Given the description of an element on the screen output the (x, y) to click on. 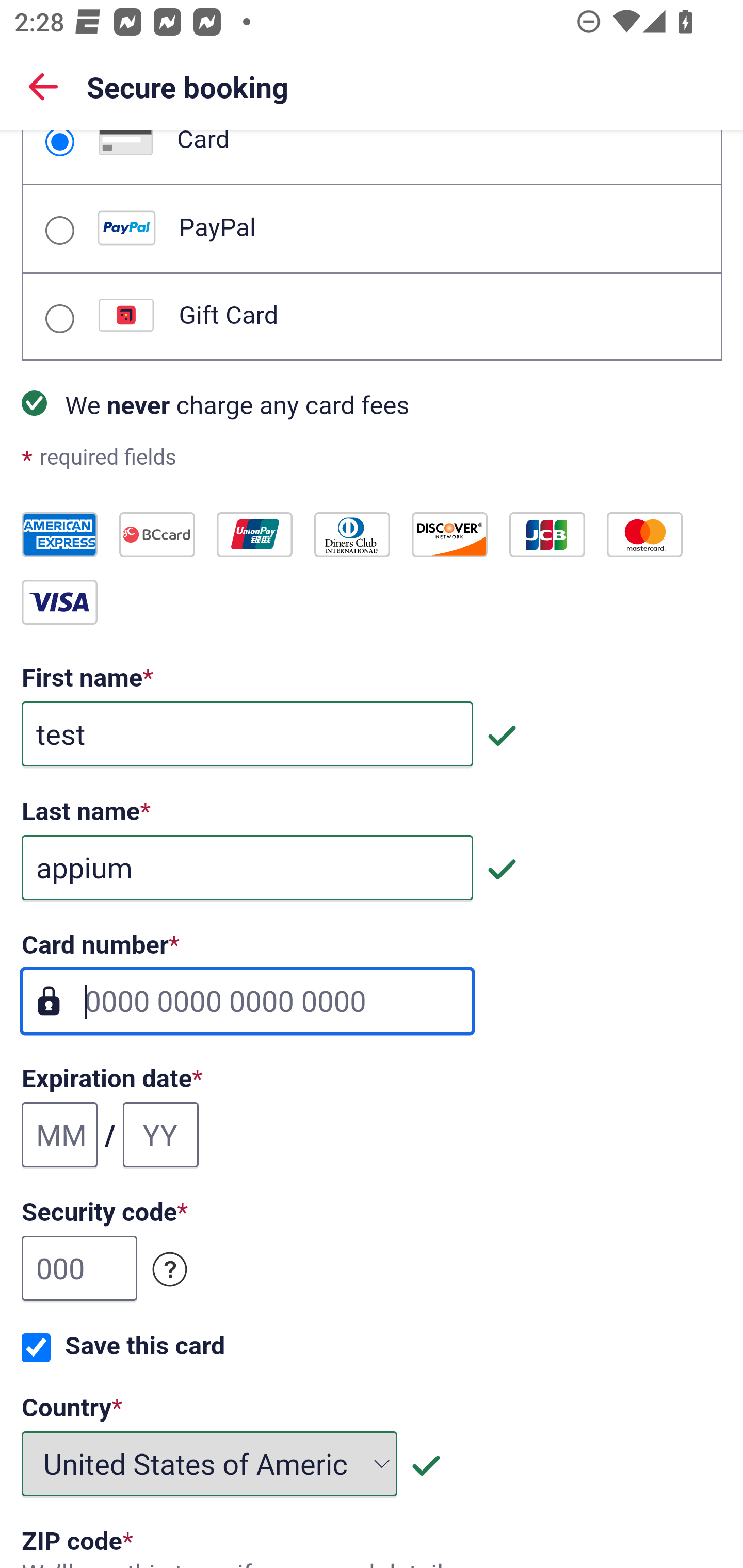
Back (43, 86)
Card (59, 143)
PayPal (59, 230)
Gift Card (59, 318)
test (247, 734)
appium (247, 868)
Security code (170, 1269)
Save this card (36, 1348)
United States of America (209, 1464)
